Given the description of an element on the screen output the (x, y) to click on. 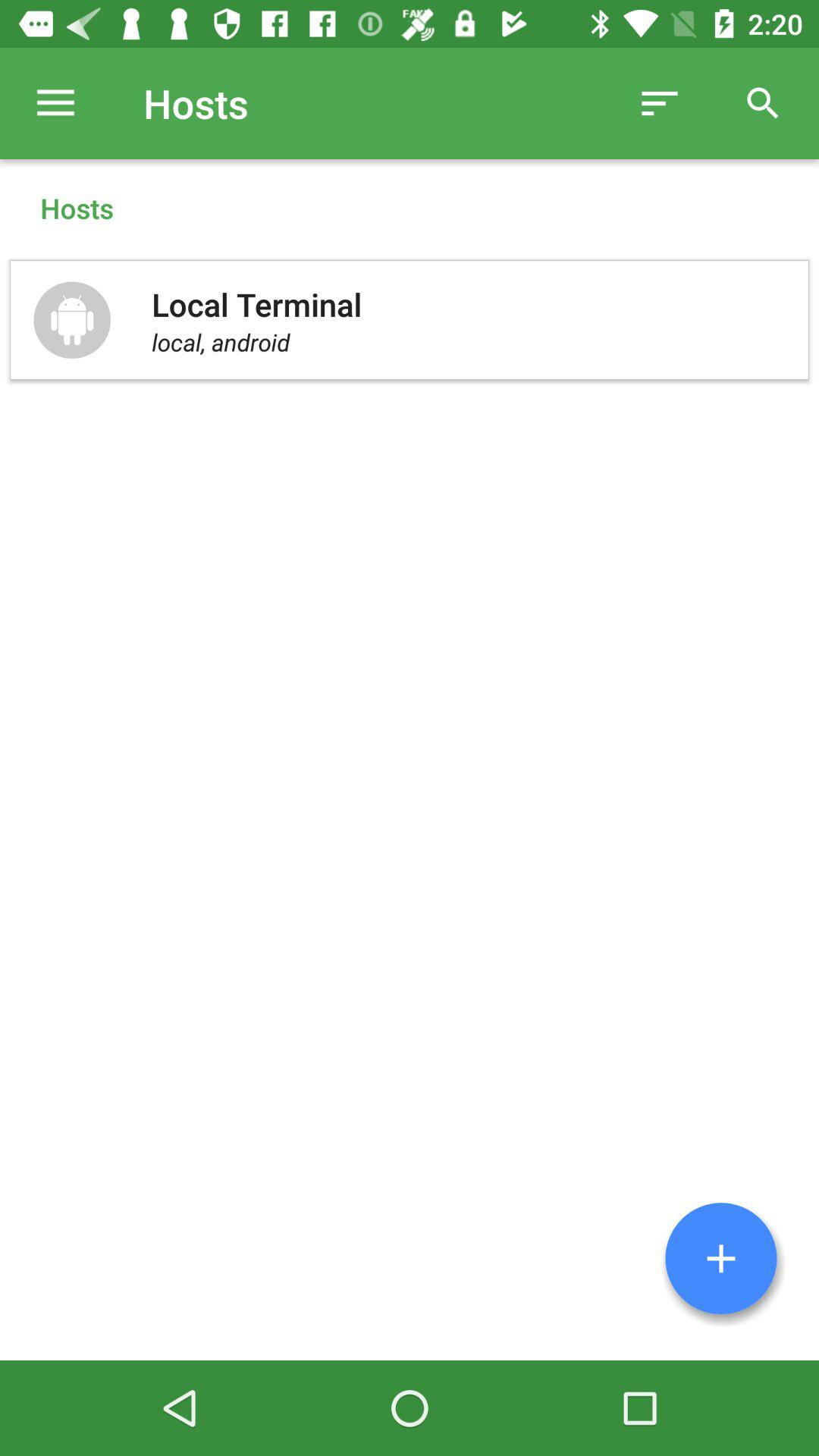
add a new host (721, 1258)
